Given the description of an element on the screen output the (x, y) to click on. 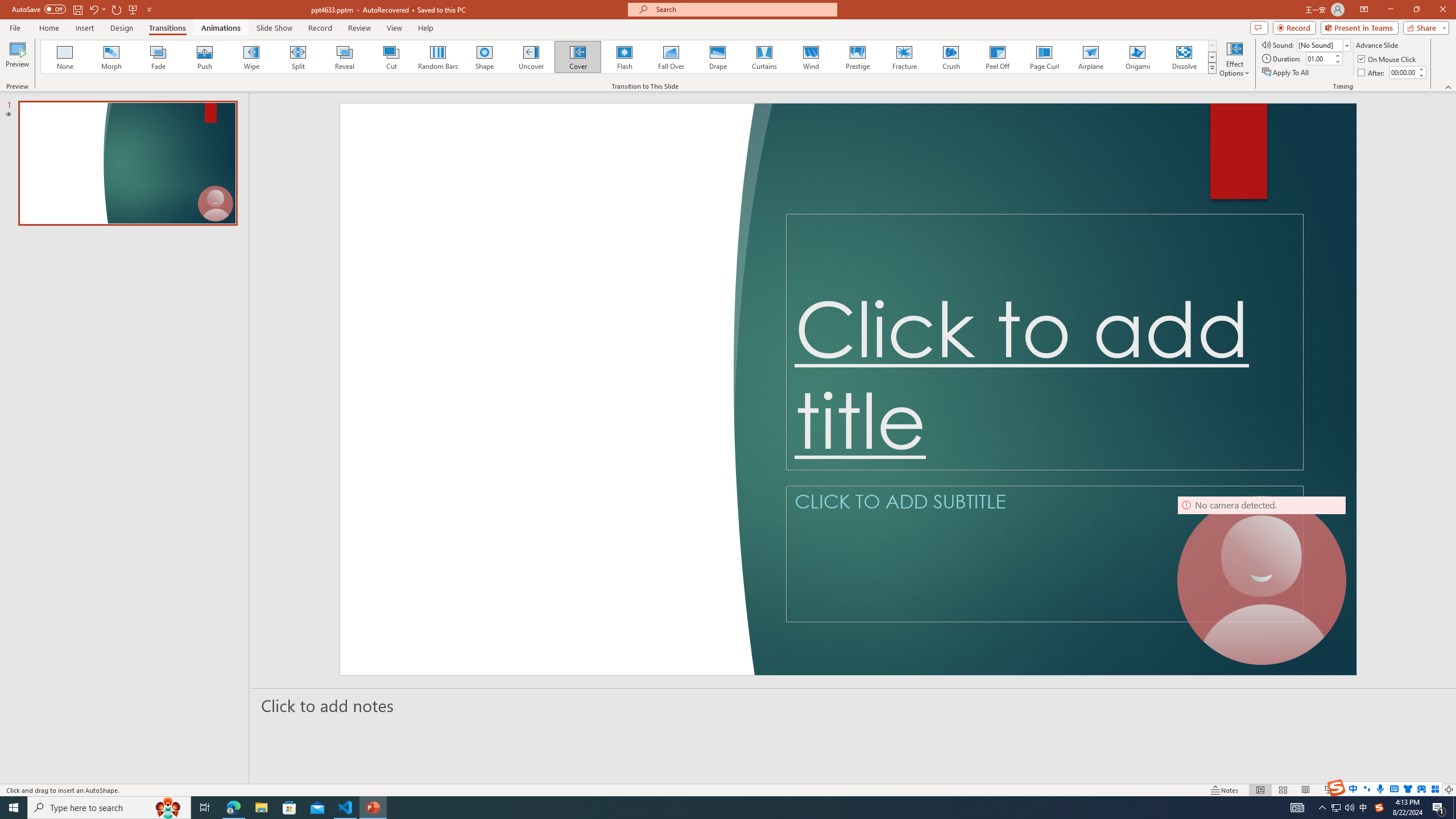
AutomationID: SlideThemesGallery (539, 56)
Ion (296, 56)
Zoom 140% (1430, 790)
